Given the description of an element on the screen output the (x, y) to click on. 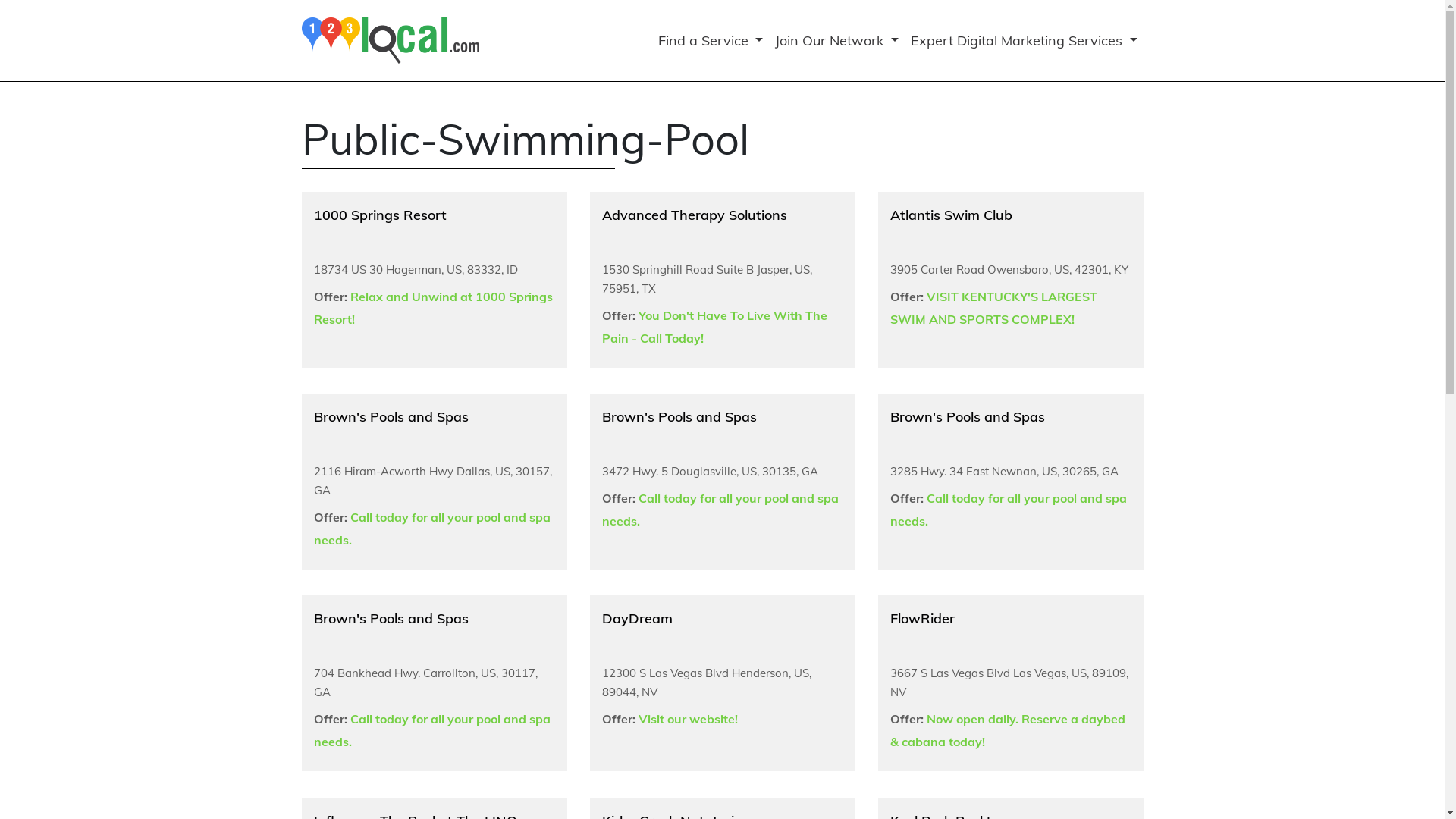
1000 Springs Resort Element type: text (379, 214)
DayDream Element type: text (637, 618)
Join Our Network Element type: text (836, 40)
Brown's Pools and Spas Element type: text (390, 618)
Brown's Pools and Spas Element type: text (390, 416)
Now open daily. Reserve a daybed & cabana today! Element type: text (1007, 730)
Visit our website! Element type: text (687, 718)
Call today for all your pool and spa needs. Element type: text (1008, 509)
Call today for all your pool and spa needs. Element type: text (720, 509)
VISIT KENTUCKY'S LARGEST SWIM AND SPORTS COMPLEX! Element type: text (993, 307)
Brown's Pools and Spas Element type: text (967, 416)
Brown's Pools and Spas Element type: text (679, 416)
Relax and Unwind at 1000 Springs Resort! Element type: text (432, 307)
Call today for all your pool and spa needs. Element type: text (431, 730)
Advanced Therapy Solutions Element type: text (694, 214)
Expert Digital Marketing Services Element type: text (1023, 40)
Find a Service Element type: text (710, 40)
FlowRider Element type: text (922, 618)
You Don't Have To Live With The Pain - Call Today! Element type: text (714, 326)
Atlantis Swim Club Element type: text (951, 214)
Call today for all your pool and spa needs. Element type: text (431, 528)
